Given the description of an element on the screen output the (x, y) to click on. 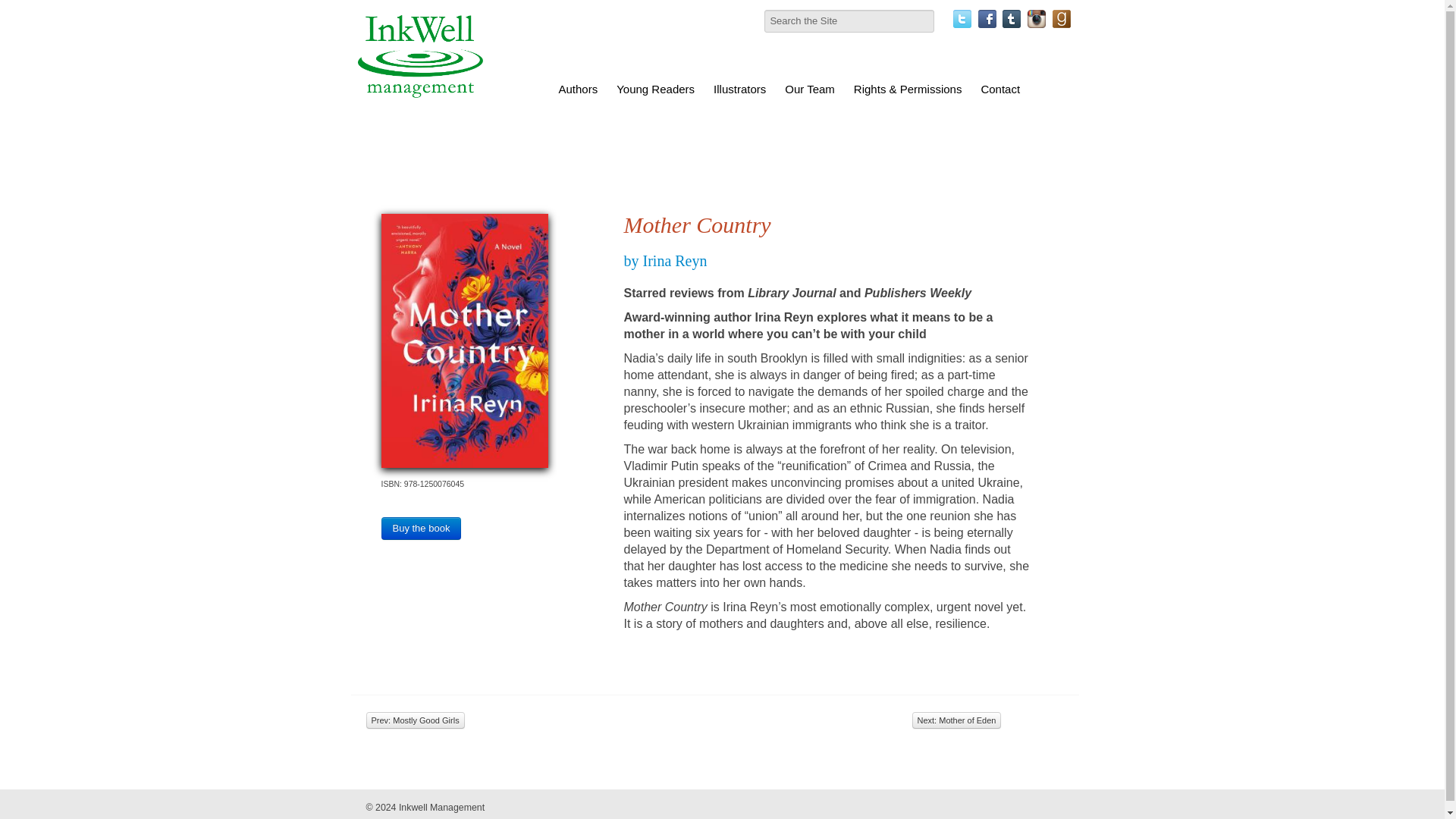
Inkwell Management (441, 807)
Our Team (809, 89)
Buy the book (420, 527)
Young Readers (655, 89)
Next: Mother of Eden (956, 719)
Contact (999, 89)
Search the Site (849, 20)
Authors (578, 89)
Illustrators (740, 89)
by Irina Reyn (664, 260)
Prev: Mostly Good Girls (414, 719)
